Given the description of an element on the screen output the (x, y) to click on. 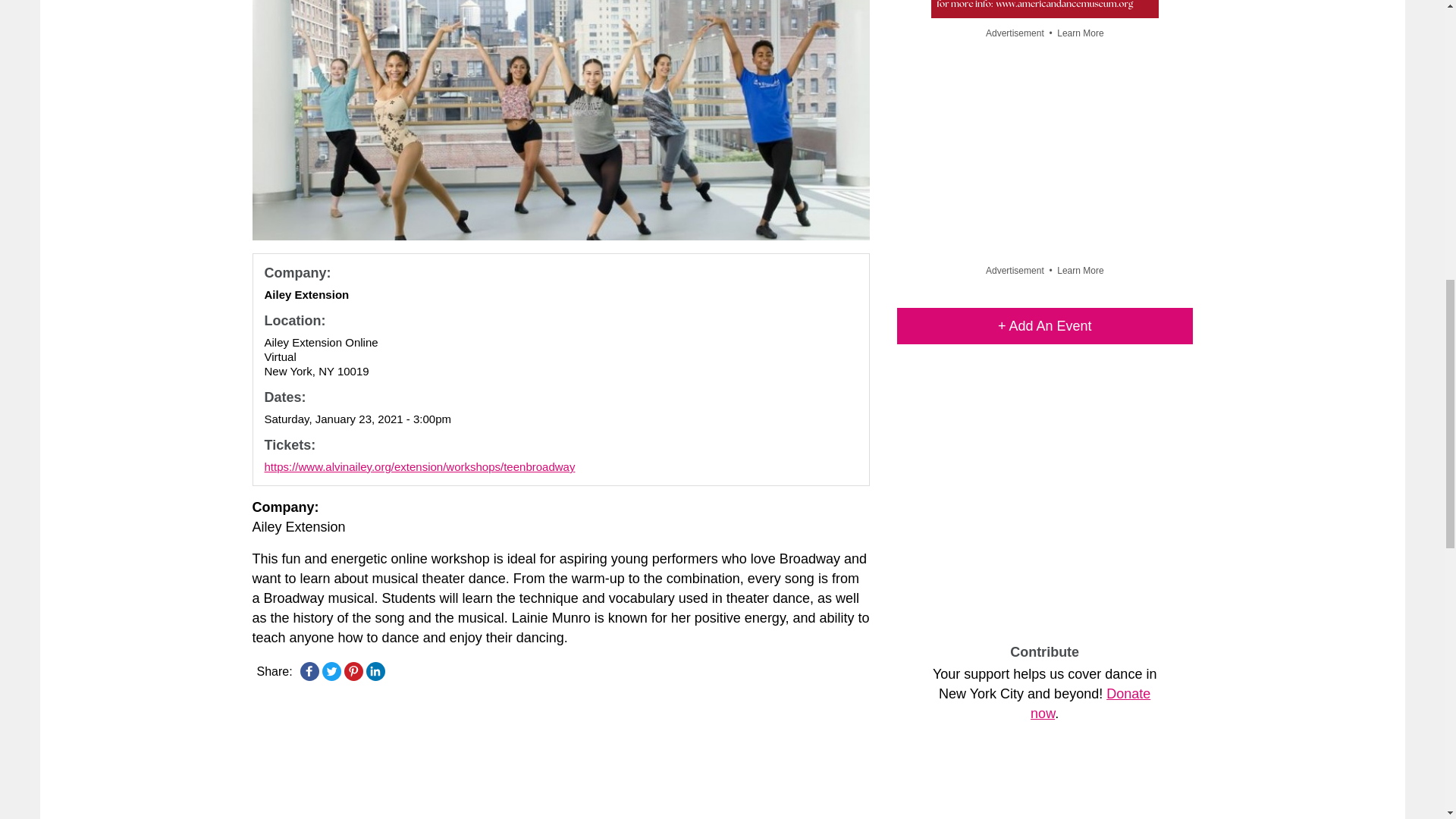
Facebook (309, 670)
Twitter (331, 670)
LinkedIn (375, 670)
Pinterest (353, 670)
